Given the description of an element on the screen output the (x, y) to click on. 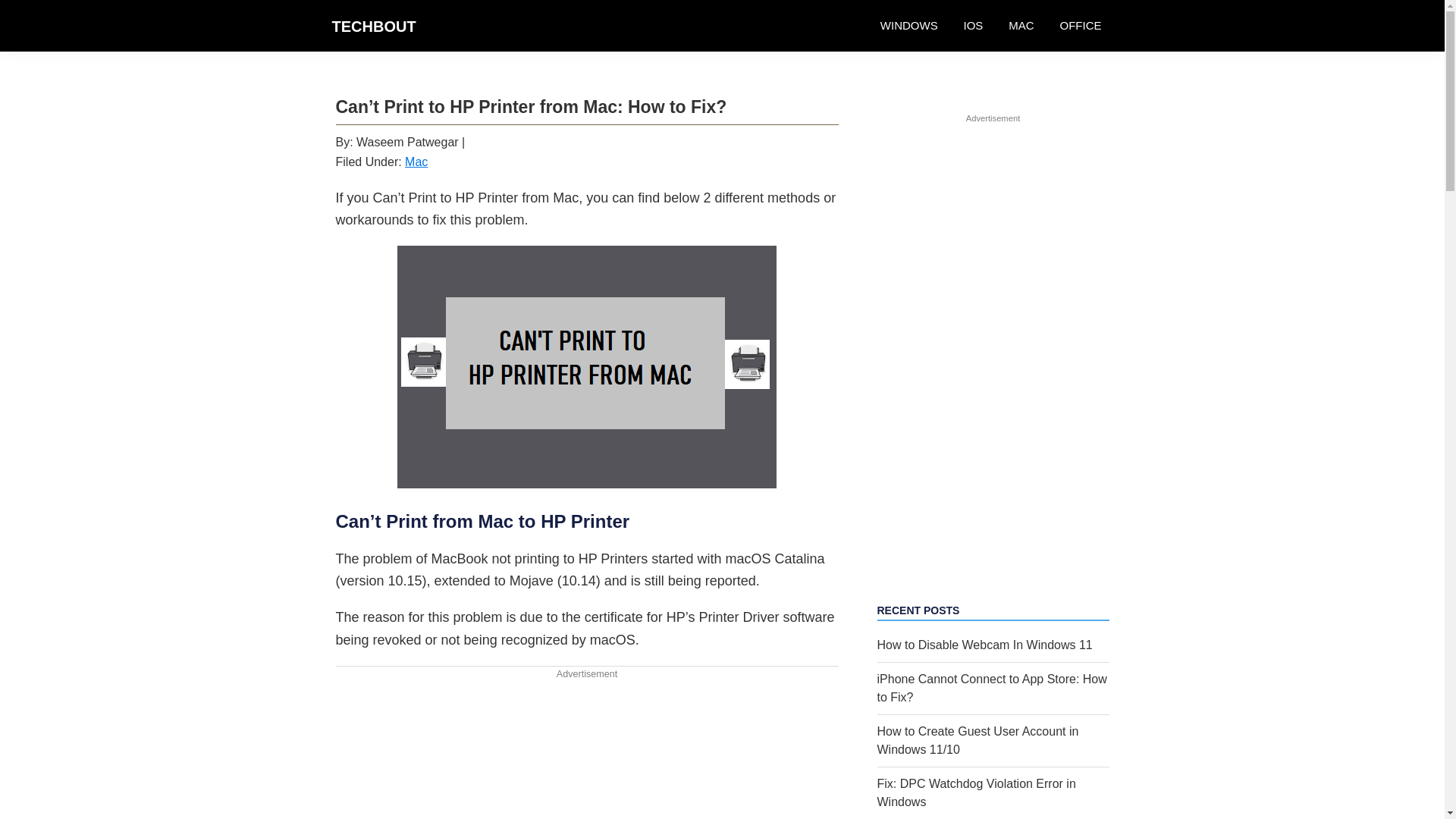
IOS (973, 25)
Mac (416, 161)
iPhone Cannot Connect to App Store: How to Fix? (991, 687)
OFFICE (1080, 25)
WINDOWS (909, 25)
Can't Print to HP Printer from Mac (586, 366)
Fix: DPC Watchdog Violation Error in Windows (975, 792)
How to Disable Webcam In Windows 11 (984, 644)
MAC (1021, 25)
Advertisement (586, 750)
TECHBOUT (373, 26)
